Given the description of an element on the screen output the (x, y) to click on. 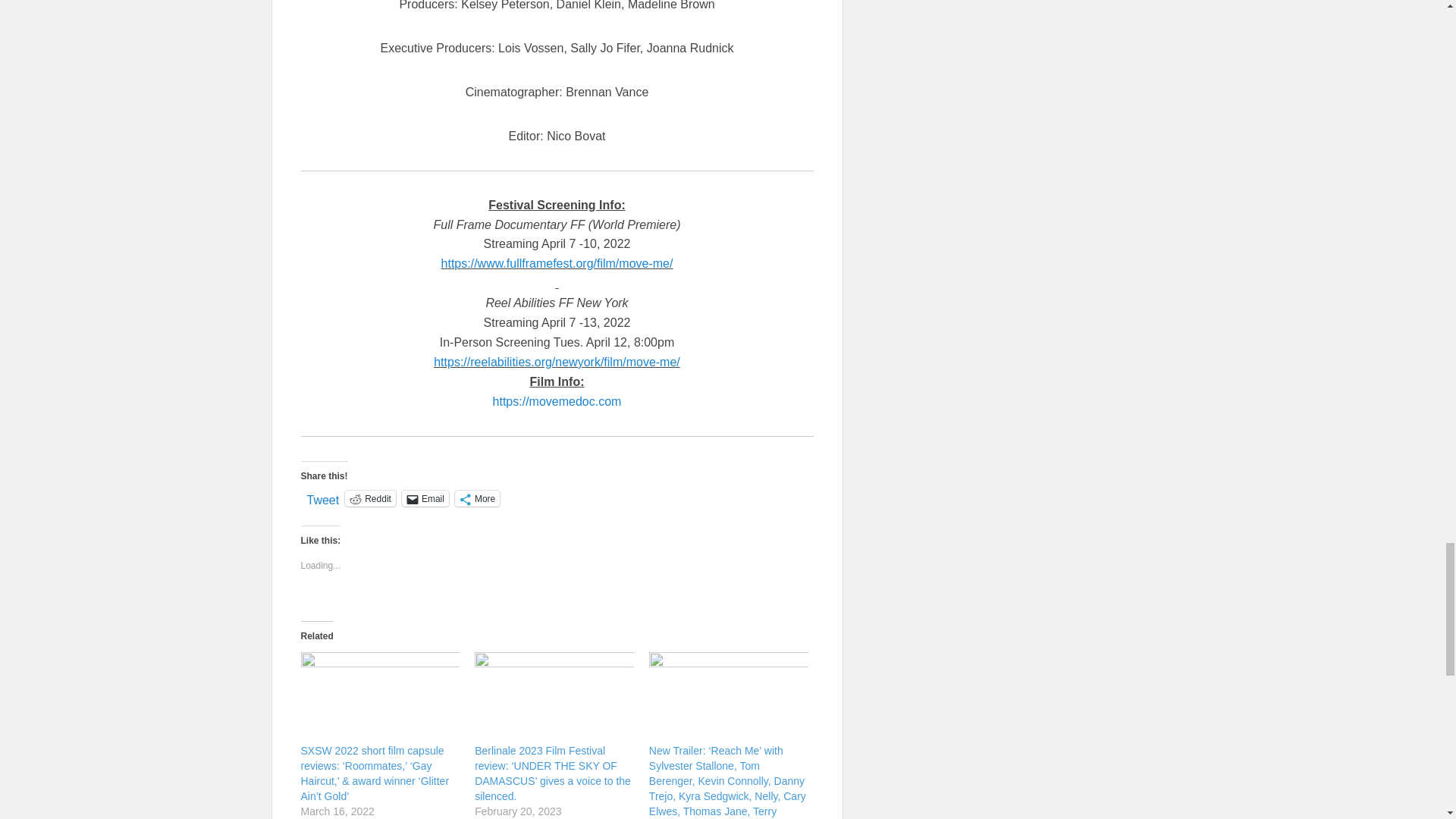
Tweet (322, 497)
Email (424, 498)
More (476, 498)
Click to share on Reddit (370, 498)
Reddit (370, 498)
Click to email a link to a friend (424, 498)
